Given the description of an element on the screen output the (x, y) to click on. 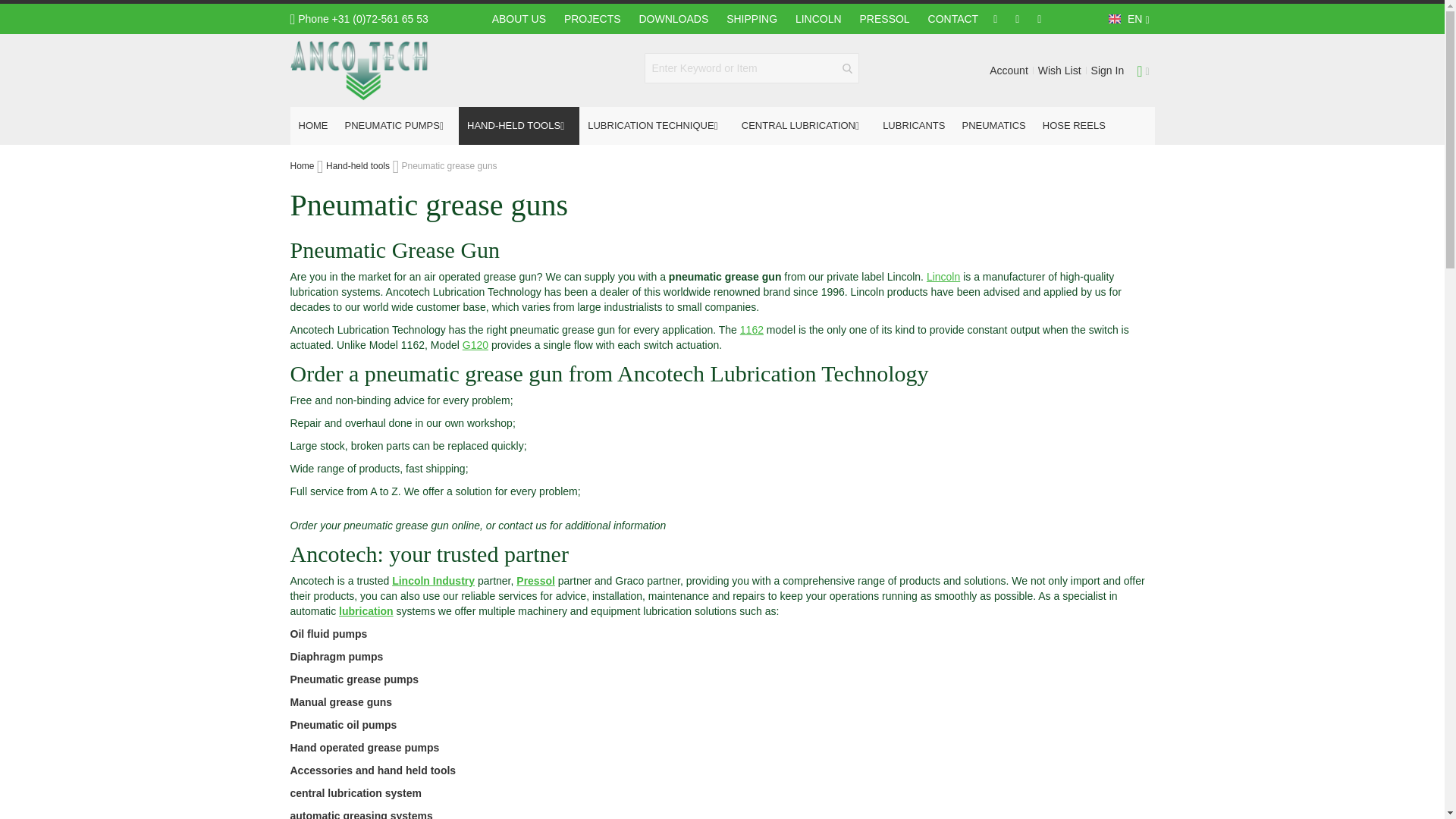
Wish List (1059, 70)
Sign In (1107, 70)
LinkedIn (994, 19)
CONTACT (953, 18)
SHIPPING (751, 18)
PROJECTS (592, 18)
PNEUMATIC PUMPS (398, 125)
Instagram (1016, 19)
YouTube (1038, 19)
Ancotech (358, 70)
Account (1008, 70)
Go to Home Page (301, 165)
LINCOLN (817, 18)
Language (1127, 19)
PRESSOL (884, 18)
